Given the description of an element on the screen output the (x, y) to click on. 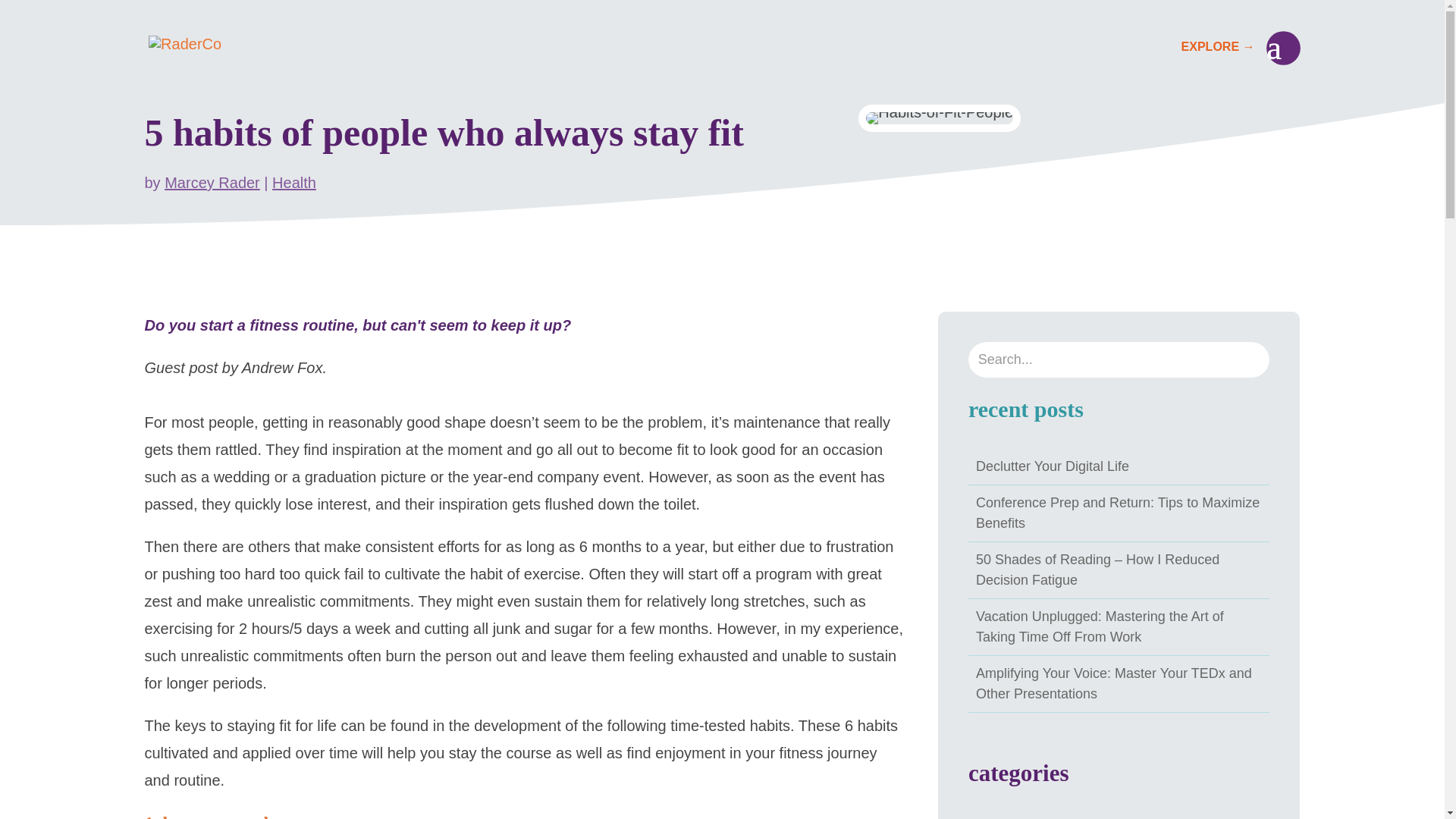
Health (293, 182)
Search (24, 18)
Posts by Marcey Rader (212, 182)
Conference Prep and Return: Tips to Maximize Benefits (1117, 512)
Habits-of-Fit-People (939, 118)
Declutter Your Digital Life (1052, 466)
Marcey Rader (212, 182)
